Given the description of an element on the screen output the (x, y) to click on. 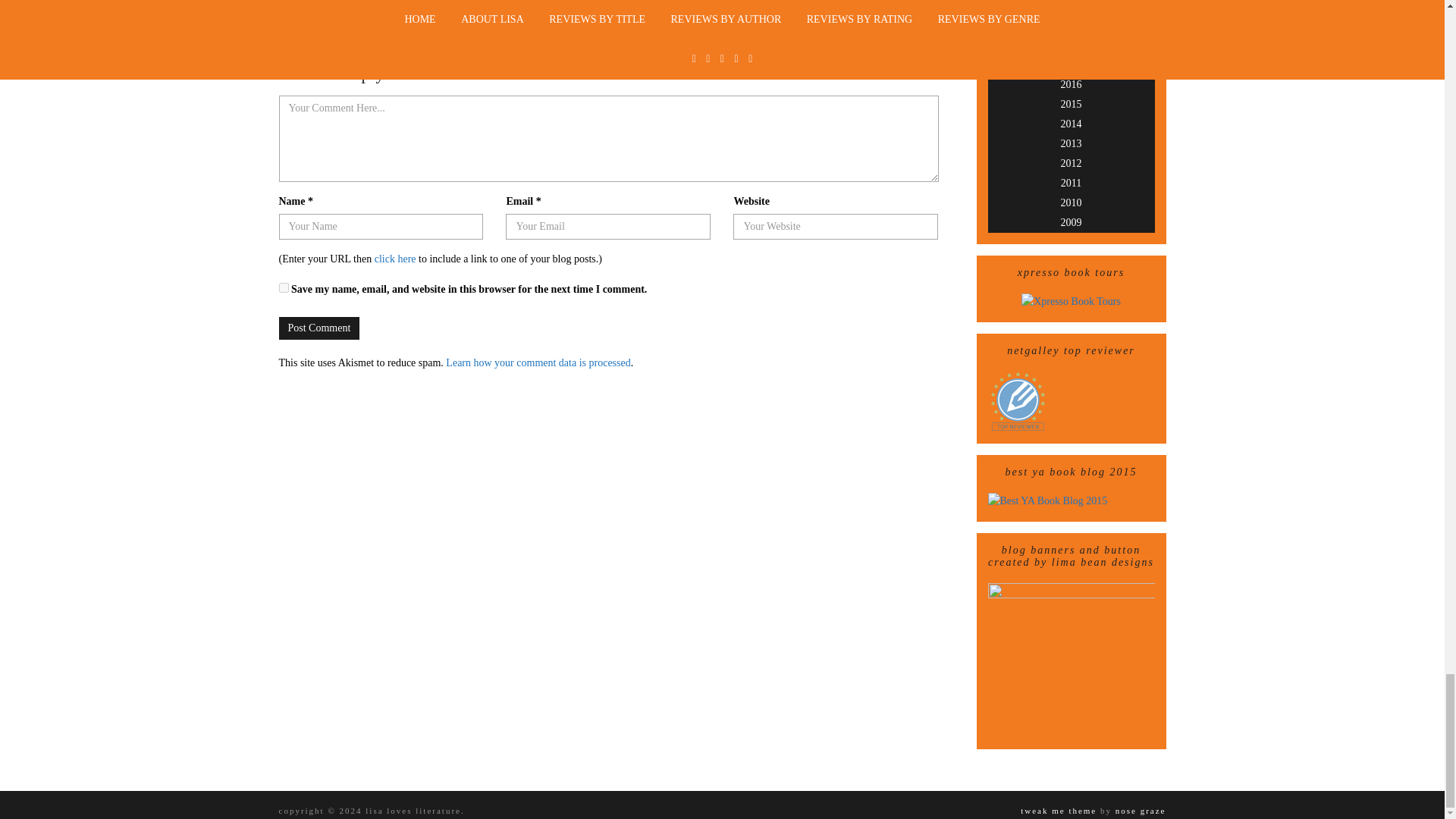
Xpresso Book Tours (1071, 301)
Reviews Published (1017, 401)
Post Comment (319, 327)
yes (283, 287)
